Given the description of an element on the screen output the (x, y) to click on. 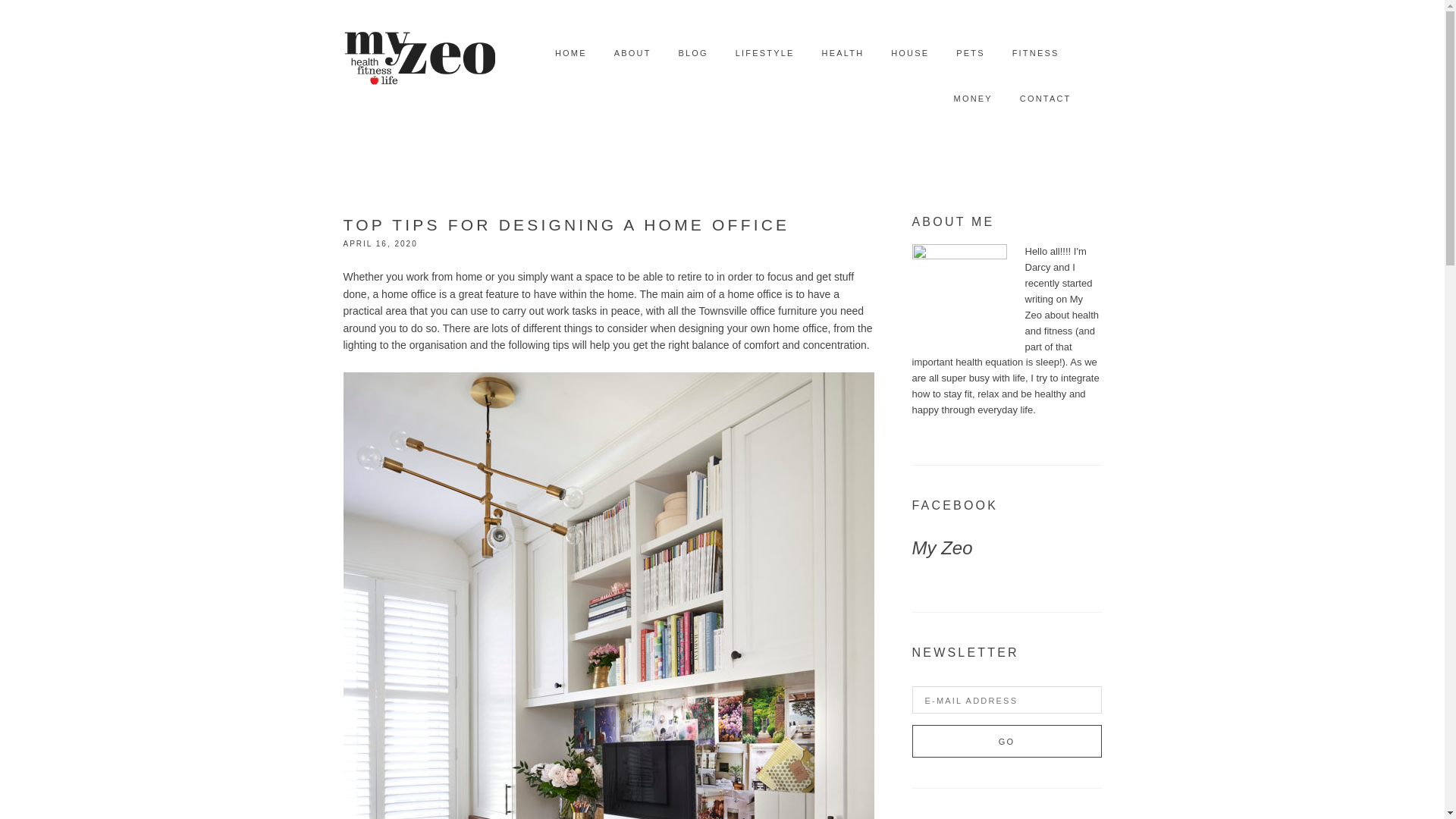
My Zeo (941, 547)
FITNESS (1035, 53)
Townsville office furniture (757, 310)
LIFESTYLE (764, 53)
CONTACT (1045, 98)
MY ZEO (418, 53)
Go (1005, 740)
Go (1005, 740)
HEALTH (843, 53)
